Given the description of an element on the screen output the (x, y) to click on. 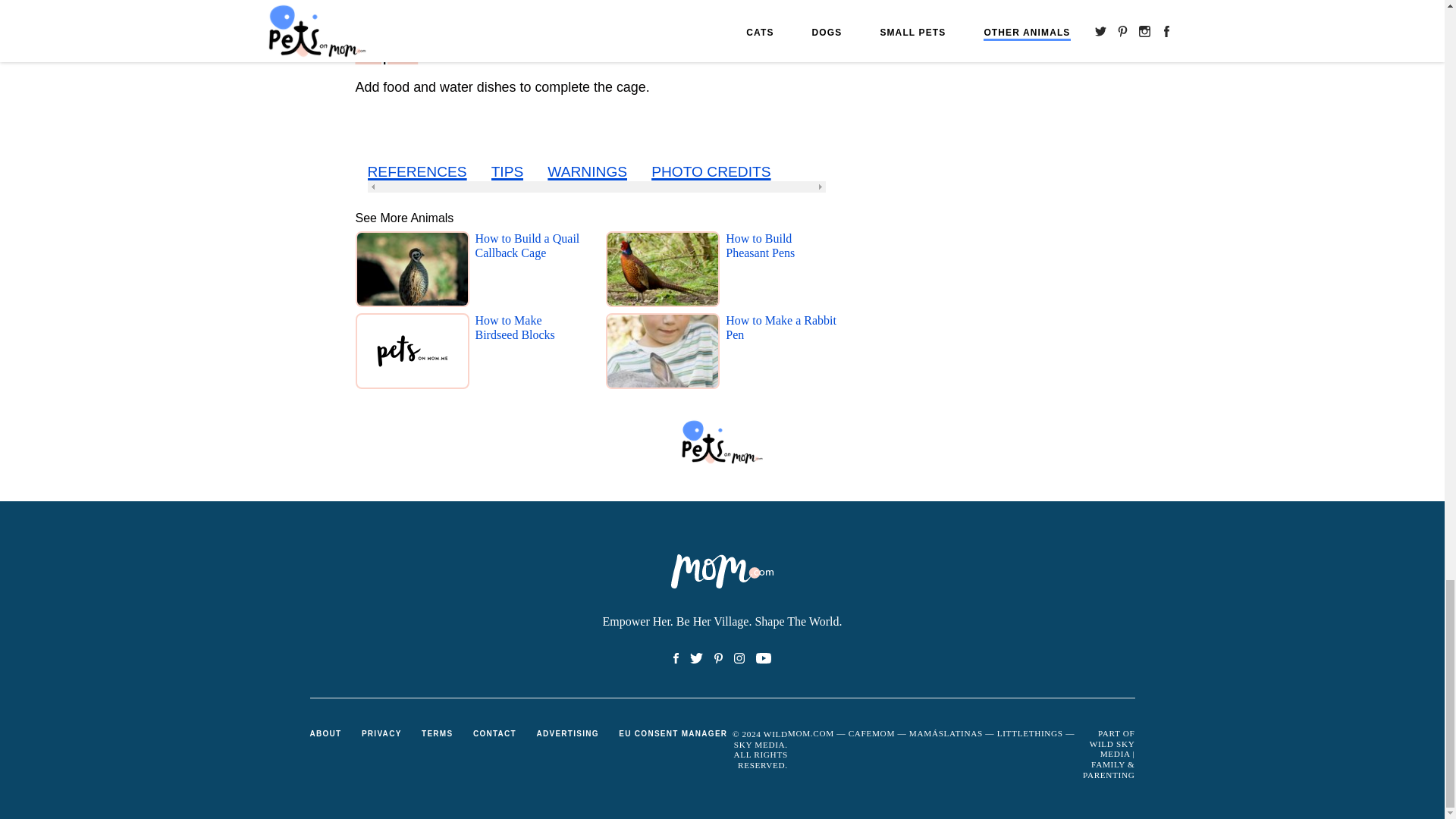
How to Make Birdseed Blocks (530, 353)
How to Build a Quail Callback Cage (530, 271)
How to Make a Rabbit Pen (781, 353)
How to Build Pheasant Pens (781, 271)
